Given the description of an element on the screen output the (x, y) to click on. 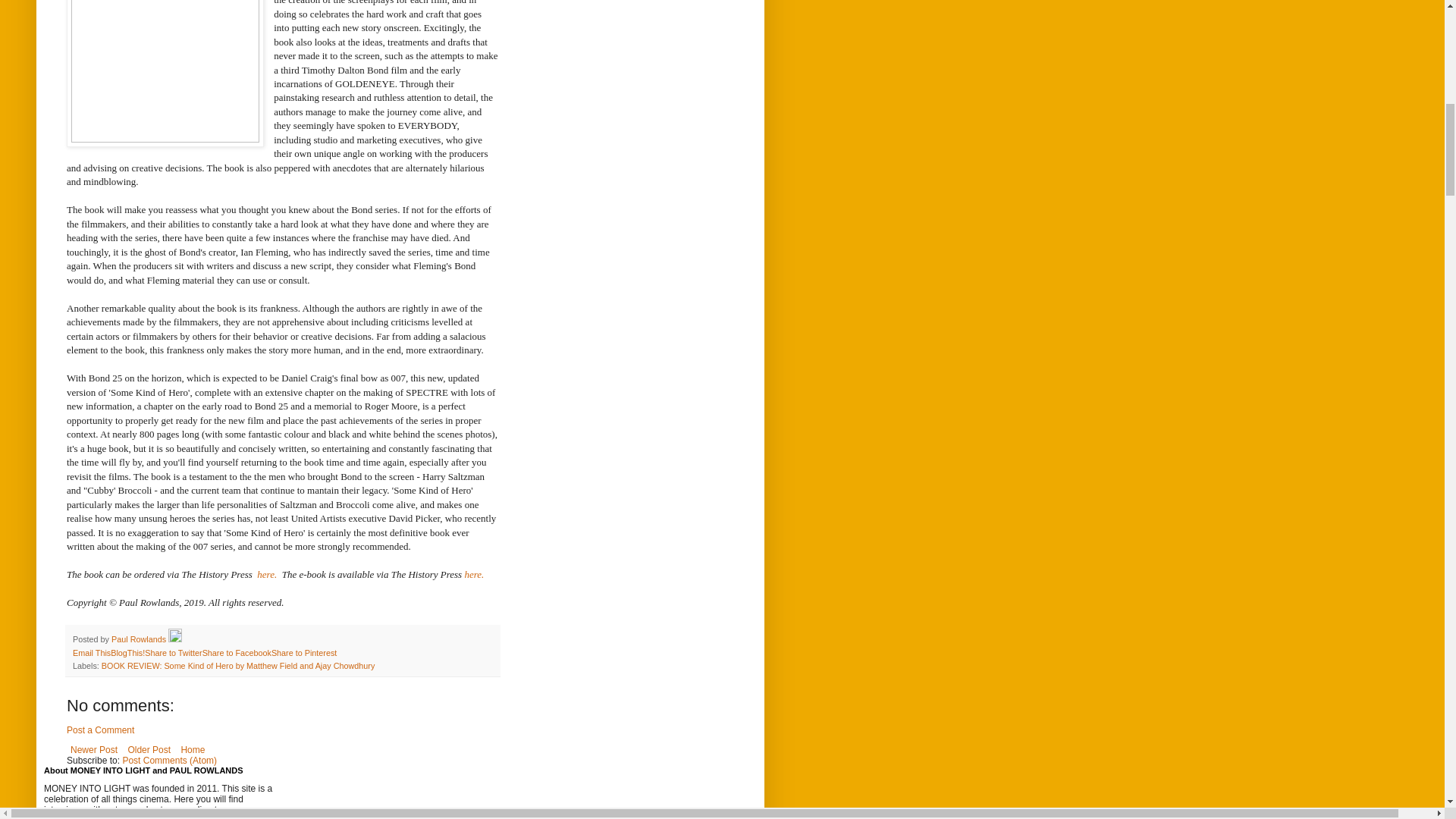
Share to Pinterest (303, 652)
Email This (91, 652)
Edit Post (175, 638)
Post a Comment (99, 729)
Share to Pinterest (303, 652)
Share to Facebook (236, 652)
Email This (91, 652)
Home (192, 750)
BlogThis! (127, 652)
here.  (475, 573)
Older Post (148, 750)
Paul Rowlands (140, 638)
Newer Post (93, 750)
here. (265, 573)
Newer Post (93, 750)
